Given the description of an element on the screen output the (x, y) to click on. 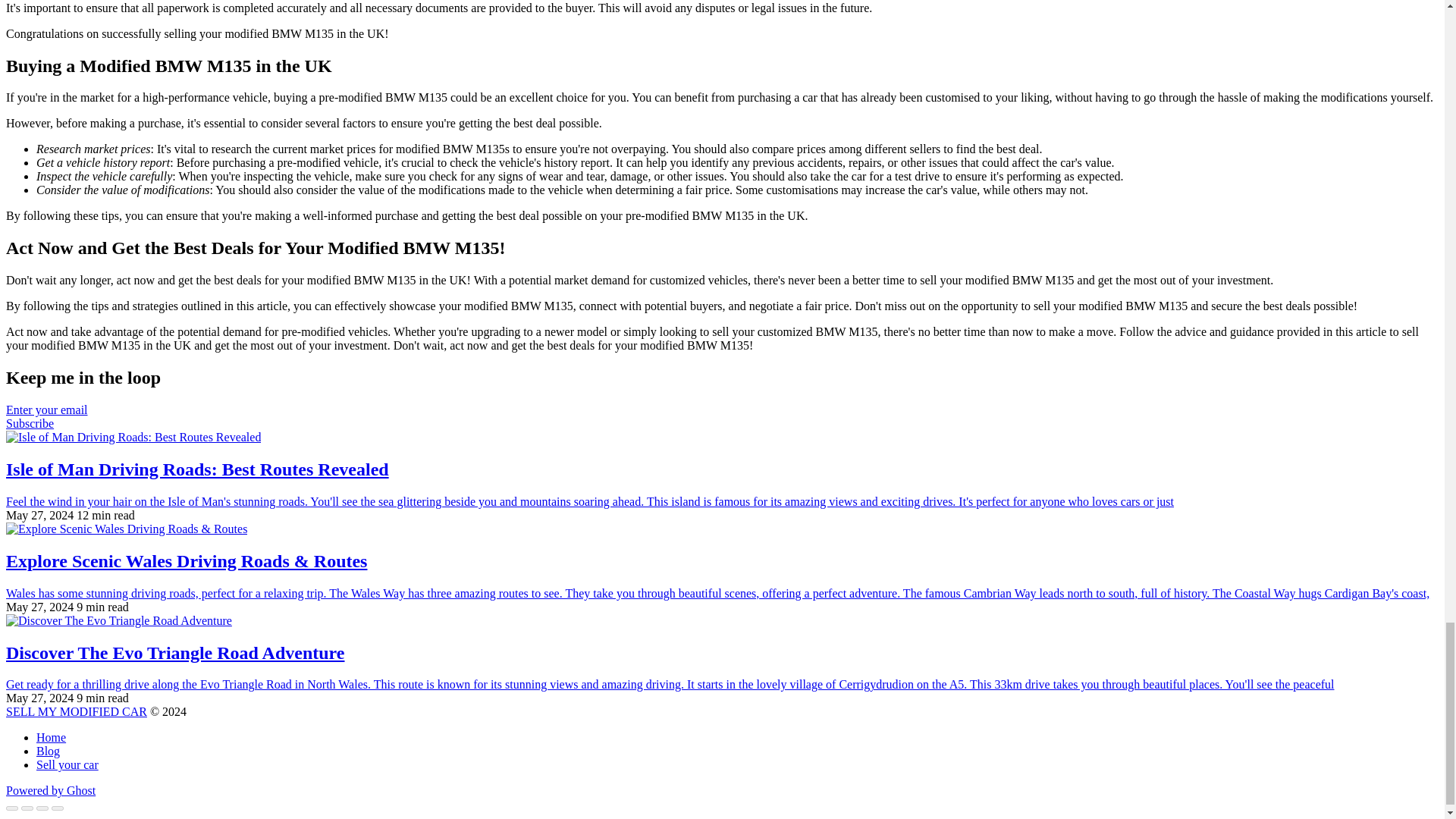
SELL MY MODIFIED CAR (76, 711)
Toggle fullscreen (42, 807)
Home (50, 737)
Blog (47, 750)
Powered by Ghost (50, 789)
Share (27, 807)
Sell your car (67, 764)
